Given the description of an element on the screen output the (x, y) to click on. 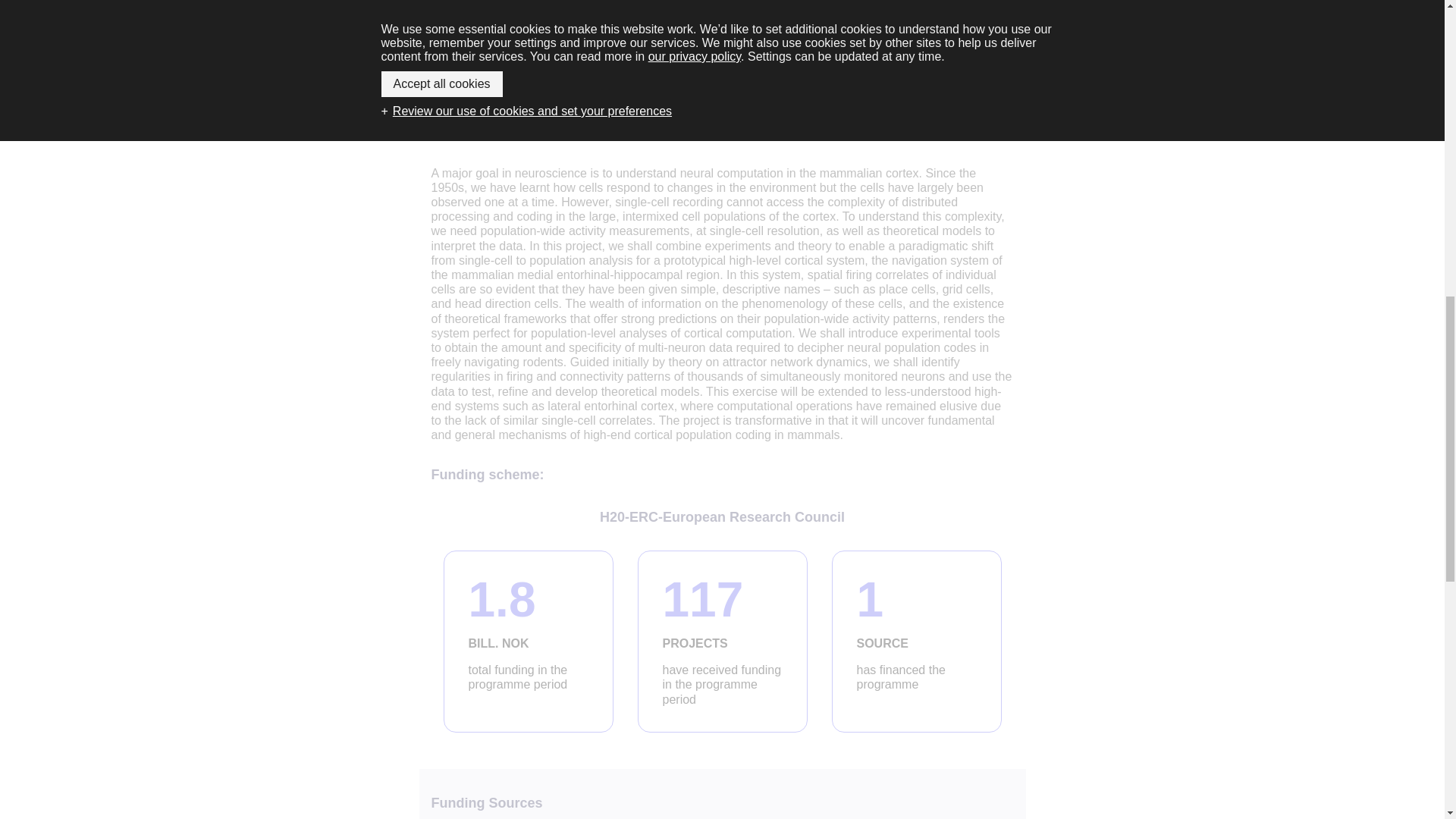
Summary (916, 641)
Popular Science Description (527, 641)
